Given the description of an element on the screen output the (x, y) to click on. 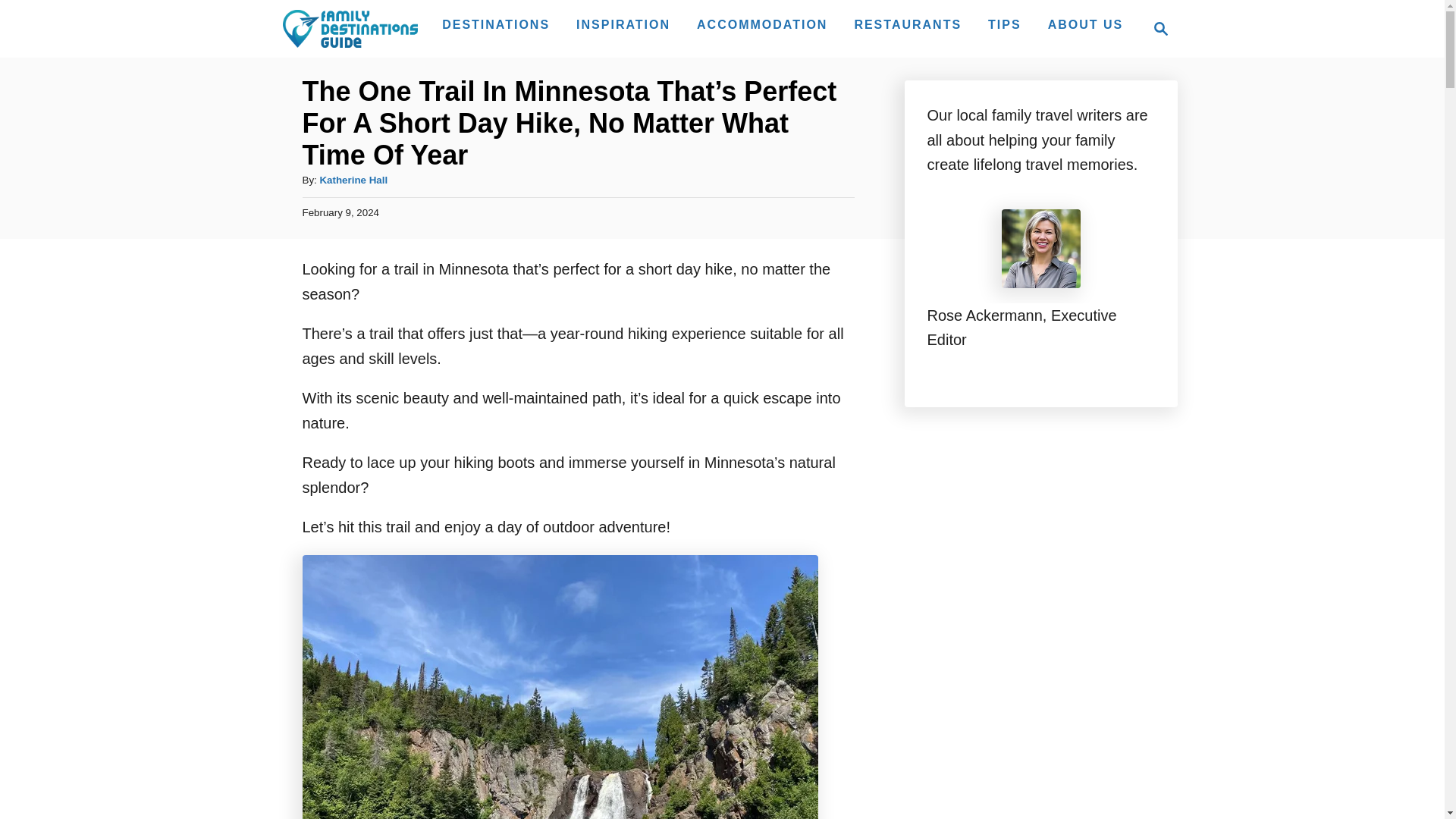
ABOUT US (1086, 24)
Magnifying Glass (1160, 28)
Family Destinations Guide (349, 28)
INSPIRATION (623, 24)
DESTINATIONS (495, 24)
ACCOMMODATION (761, 24)
Katherine Hall (1155, 28)
TIPS (352, 179)
RESTAURANTS (1004, 24)
